Given the description of an element on the screen output the (x, y) to click on. 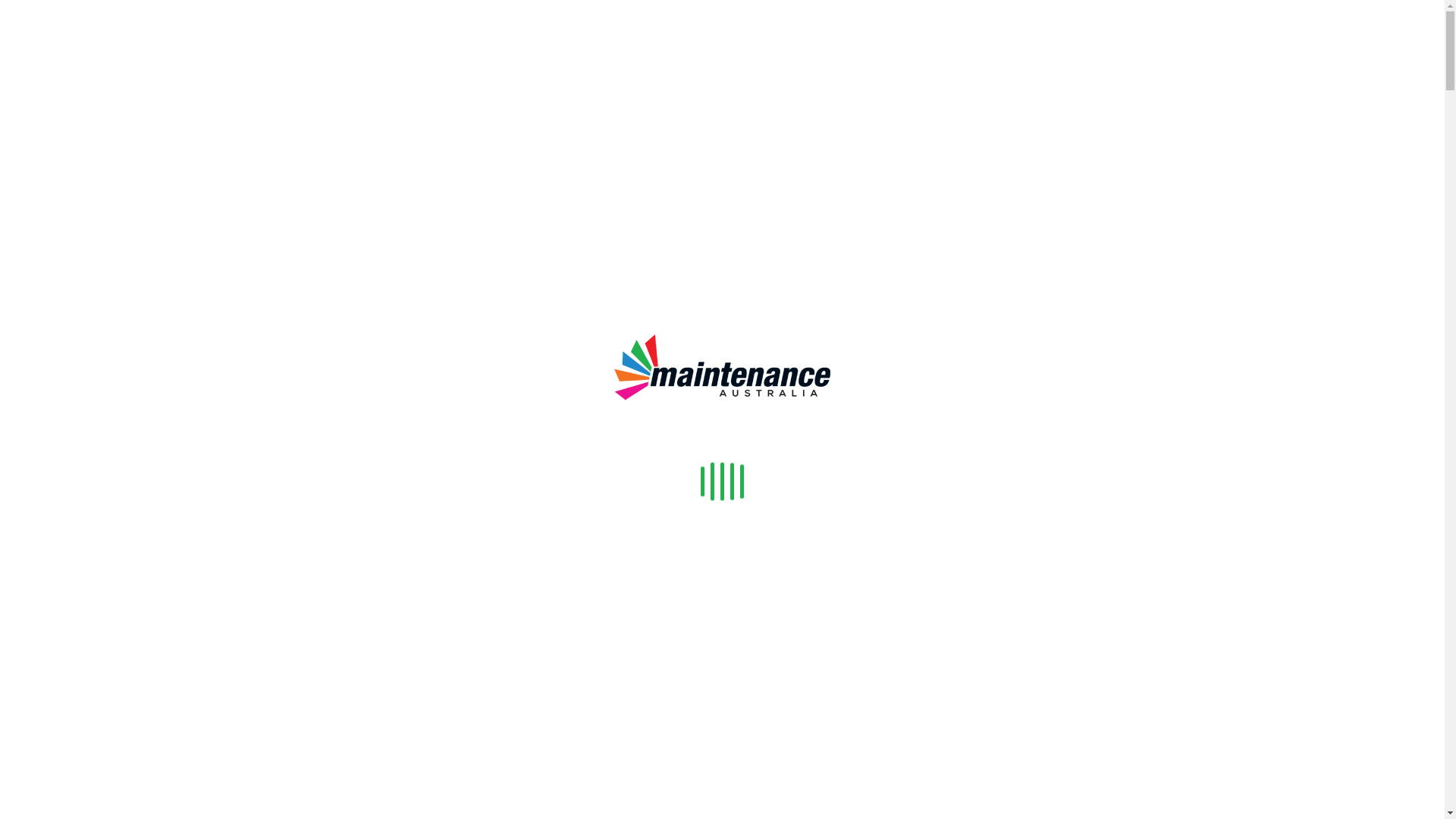
Residential Maintenance Element type: text (120, 514)
Property Styling Element type: text (69, 238)
Swimming Pool Painting Element type: text (121, 170)
Contact Us Element type: text (57, 583)
High Access Work Element type: text (105, 445)
Preventative Maintenance Element type: text (123, 542)
Done, dusted & delivered Element type: hover (327, 319)
Commercial Maintenance Element type: text (123, 528)
Graffiti Cleaning & Coatings Element type: text (131, 143)
Preventative Maintenance Element type: text (123, 225)
Building Maintenance Element type: text (84, 184)
Maintenance Australia Element type: hover (327, 349)
Painting Element type: text (80, 390)
Services Element type: text (50, 61)
Commercial Maintenance Element type: text (123, 211)
Building Maintenance Element type: text (84, 501)
Industrial Spray Painting Element type: text (121, 156)
Leak Detection Element type: text (97, 102)
Cleaning Element type: text (82, 88)
Services Element type: text (50, 376)
Roof & Gutter Repairs Element type: text (115, 115)
Contact Us Element type: text (57, 266)
High Access Work Element type: text (105, 129)
Leak Detection Element type: text (97, 417)
Painting Element type: text (80, 75)
Graffiti Cleaning & Coatings Element type: text (131, 458)
Roof & Gutter Repairs Element type: text (115, 431)
Done, dusted & delivered Element type: hover (546, 319)
Why Us Element type: text (50, 569)
24 hr Free call: 1800 686 525 Element type: text (98, 7)
Industrial Spray Painting Element type: text (121, 472)
Done, dusted & delivered Element type: hover (108, 319)
Property Styling Element type: text (69, 555)
Swimming Pool Painting Element type: text (121, 486)
Cleaning Element type: text (82, 404)
Why Us Element type: text (50, 252)
Residential Maintenance Element type: text (120, 197)
